Given the description of an element on the screen output the (x, y) to click on. 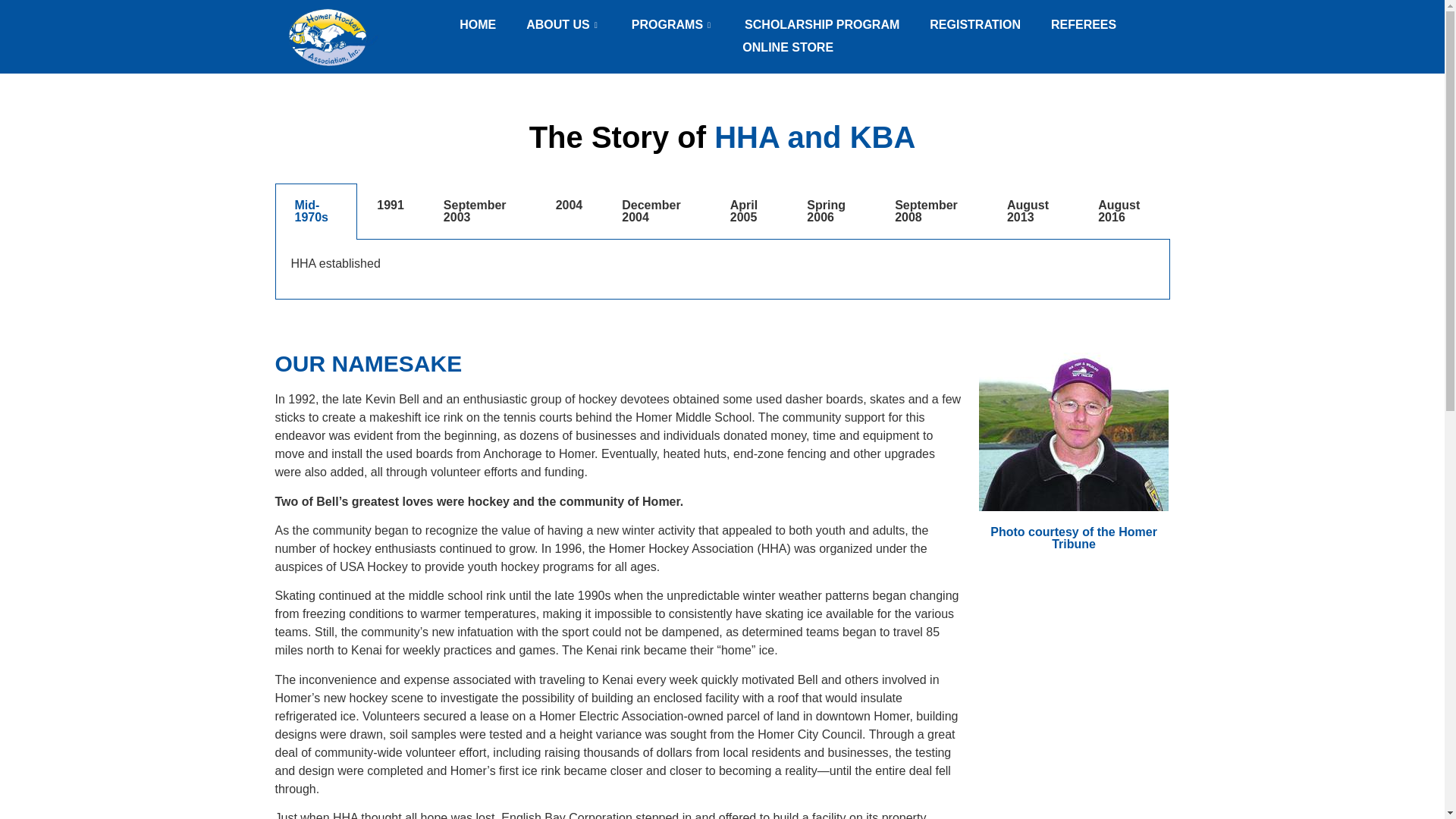
REGISTRATION (974, 24)
SCHOLARSHIP PROGRAM (821, 24)
ABOUT US (563, 24)
ONLINE STORE (787, 47)
REFEREES (1083, 24)
PROGRAMS (672, 24)
HOME (477, 24)
